Given the description of an element on the screen output the (x, y) to click on. 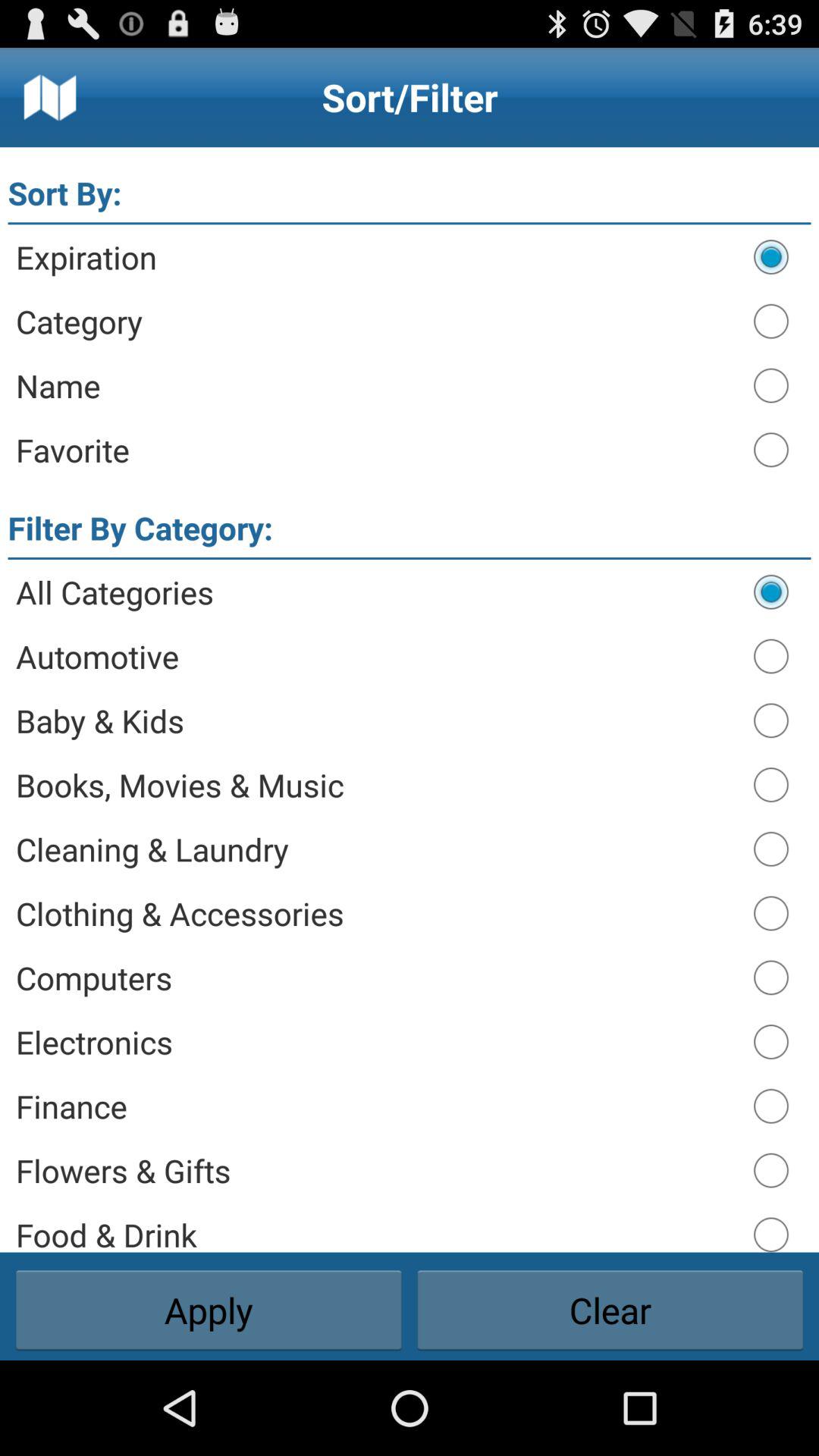
press app below automotive item (377, 720)
